Given the description of an element on the screen output the (x, y) to click on. 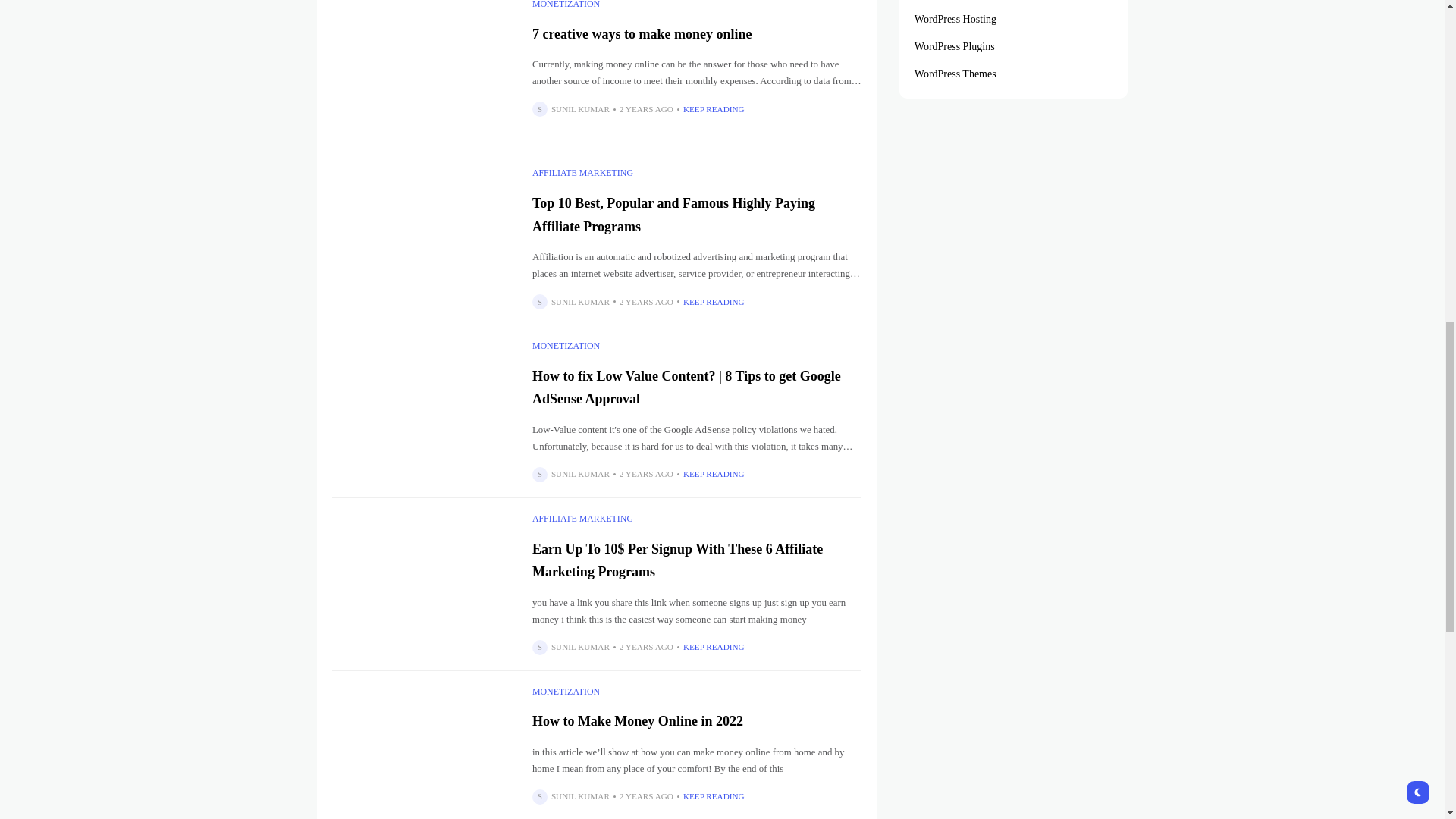
7 creative ways to make money online (642, 33)
KEEP READING (713, 109)
SUNIL KUMAR (580, 301)
2 YEARS AGO (646, 109)
7 creative ways to make money online (423, 68)
SUNIL KUMAR (580, 109)
2 YEARS AGO (646, 301)
AFFILIATE MARKETING (582, 173)
MONETIZATION (565, 5)
